Given the description of an element on the screen output the (x, y) to click on. 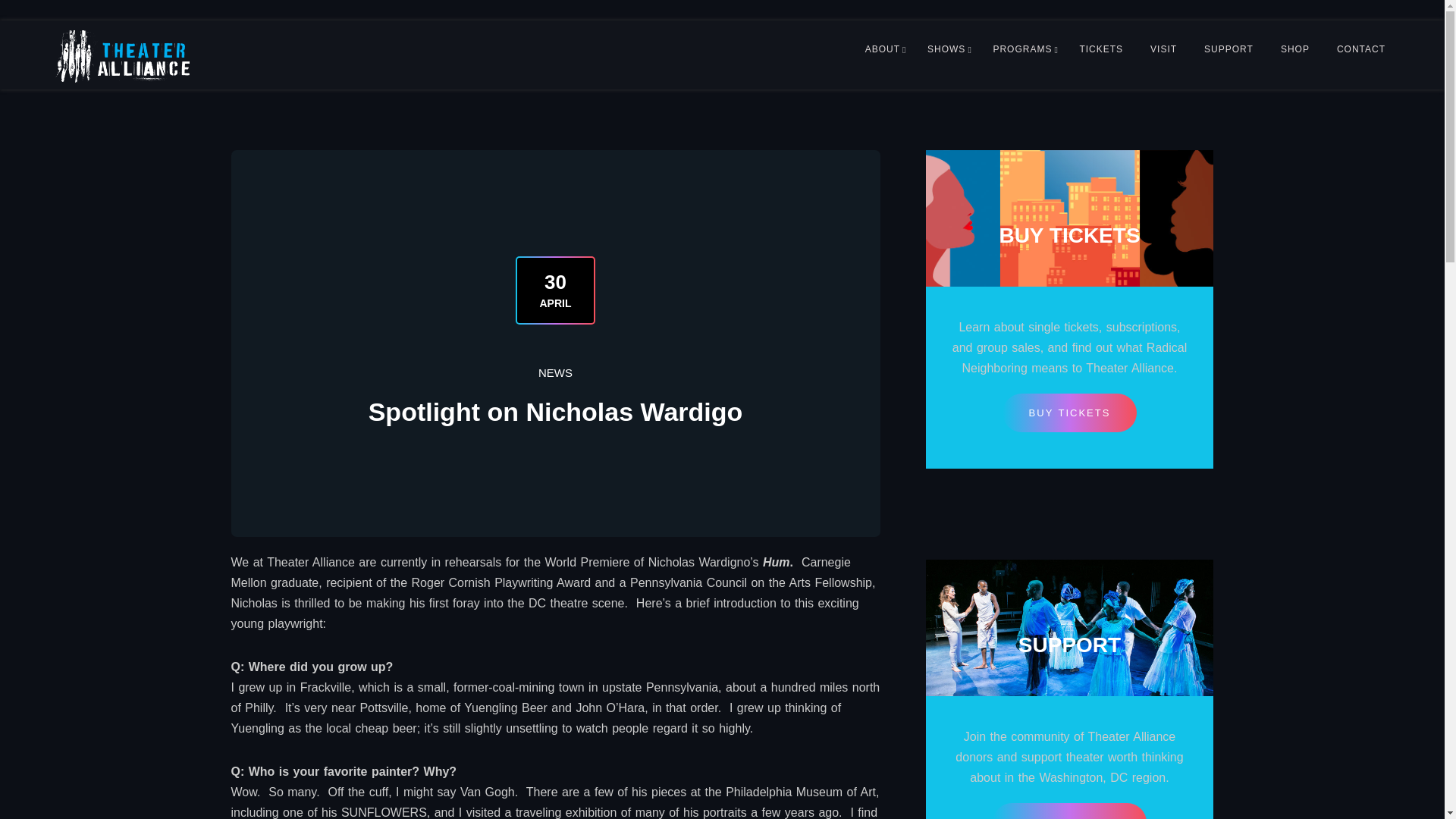
CONTACT (1361, 49)
TICKETS (1101, 49)
NEWS (555, 372)
SHOWS (946, 49)
ABOUT (882, 49)
SUPPORT (1228, 49)
PROGRAMS (1021, 49)
VISIT (1164, 49)
SHOP (1294, 49)
